Given the description of an element on the screen output the (x, y) to click on. 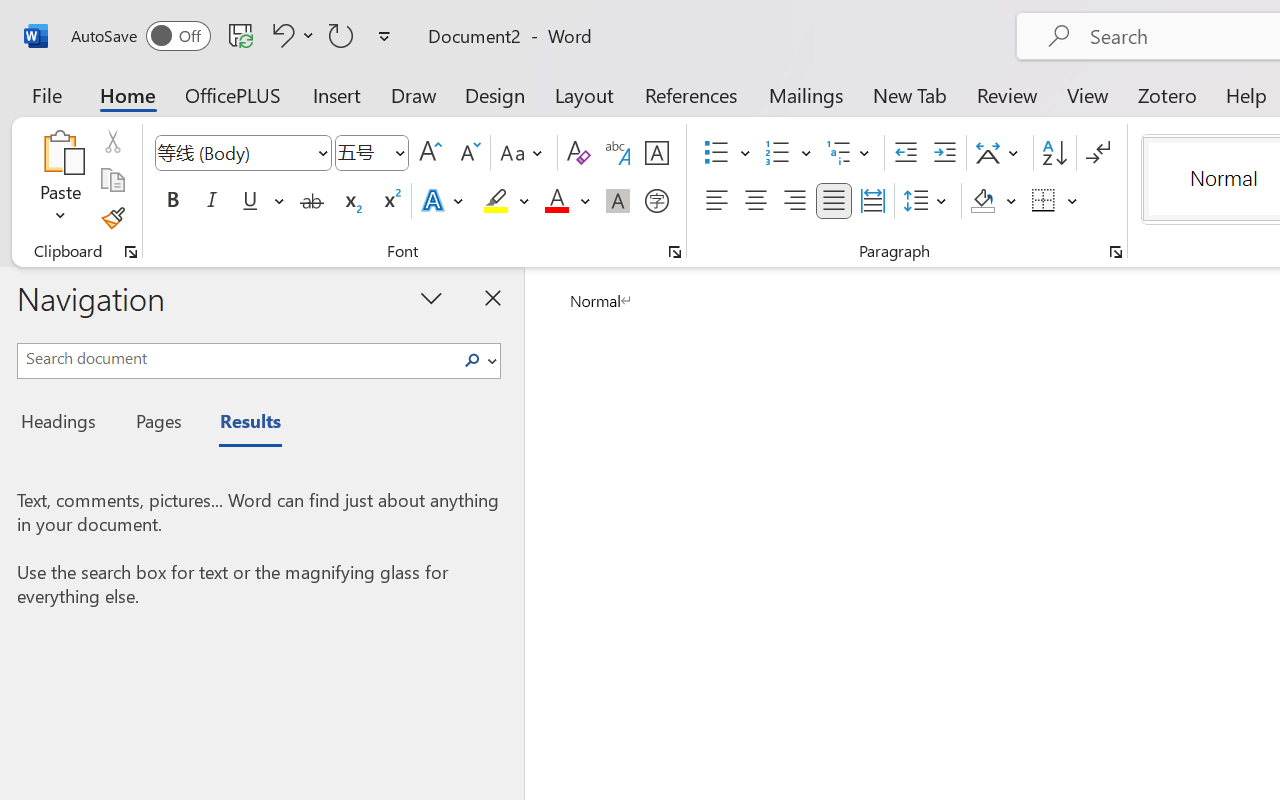
Subscript (350, 201)
Increase Indent (944, 153)
Home (127, 94)
New Tab (909, 94)
Cut (112, 141)
Bold (172, 201)
Format Painter (112, 218)
Headings (64, 424)
AutoSave (140, 35)
Align Left (716, 201)
Quick Access Toolbar (233, 36)
Show/Hide Editing Marks (1098, 153)
Center (756, 201)
Open (399, 152)
Multilevel List (850, 153)
